Given the description of an element on the screen output the (x, y) to click on. 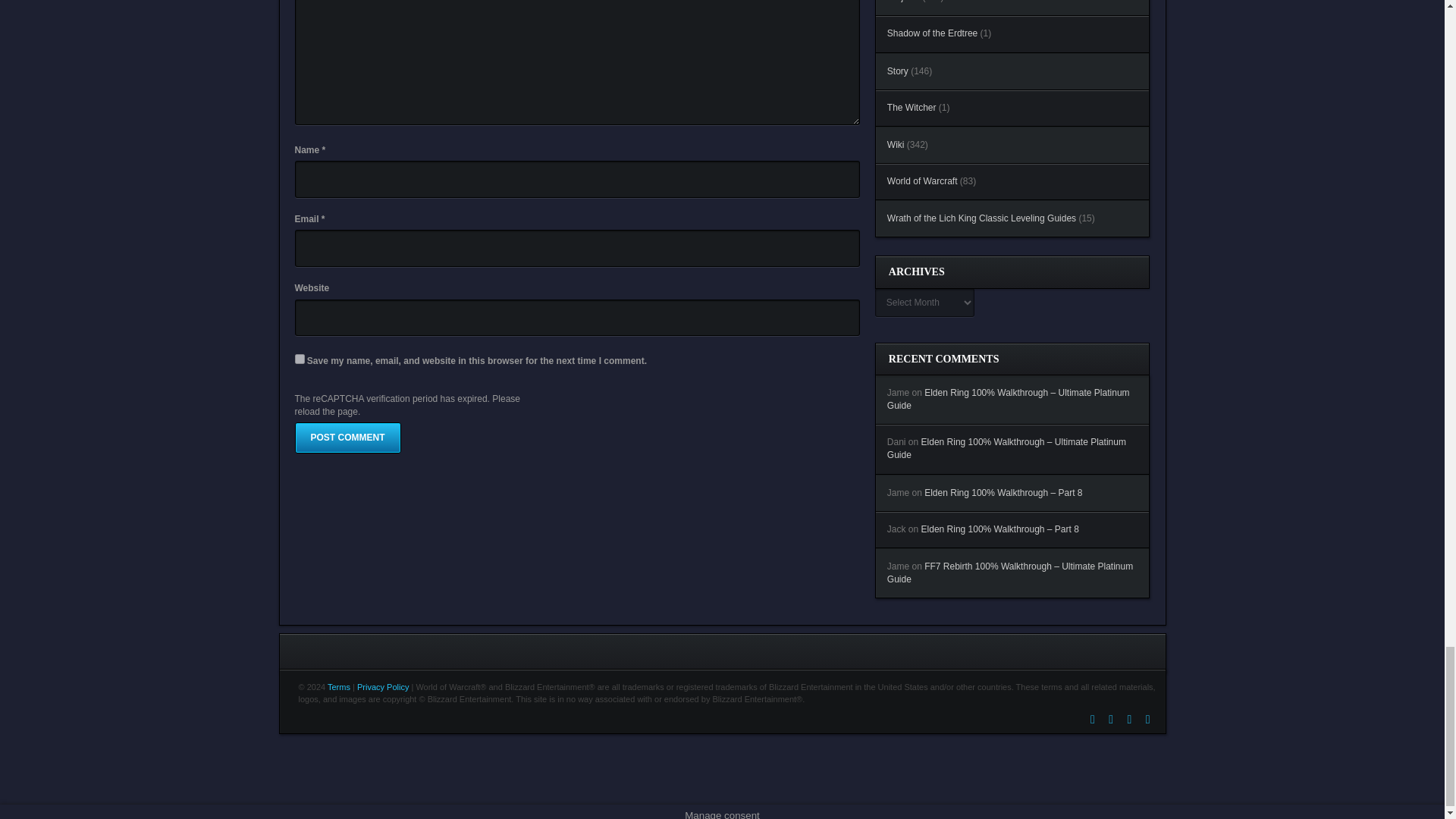
yes (299, 358)
Terms (338, 686)
Post Comment (347, 437)
Privacy Policy (382, 686)
